Given the description of an element on the screen output the (x, y) to click on. 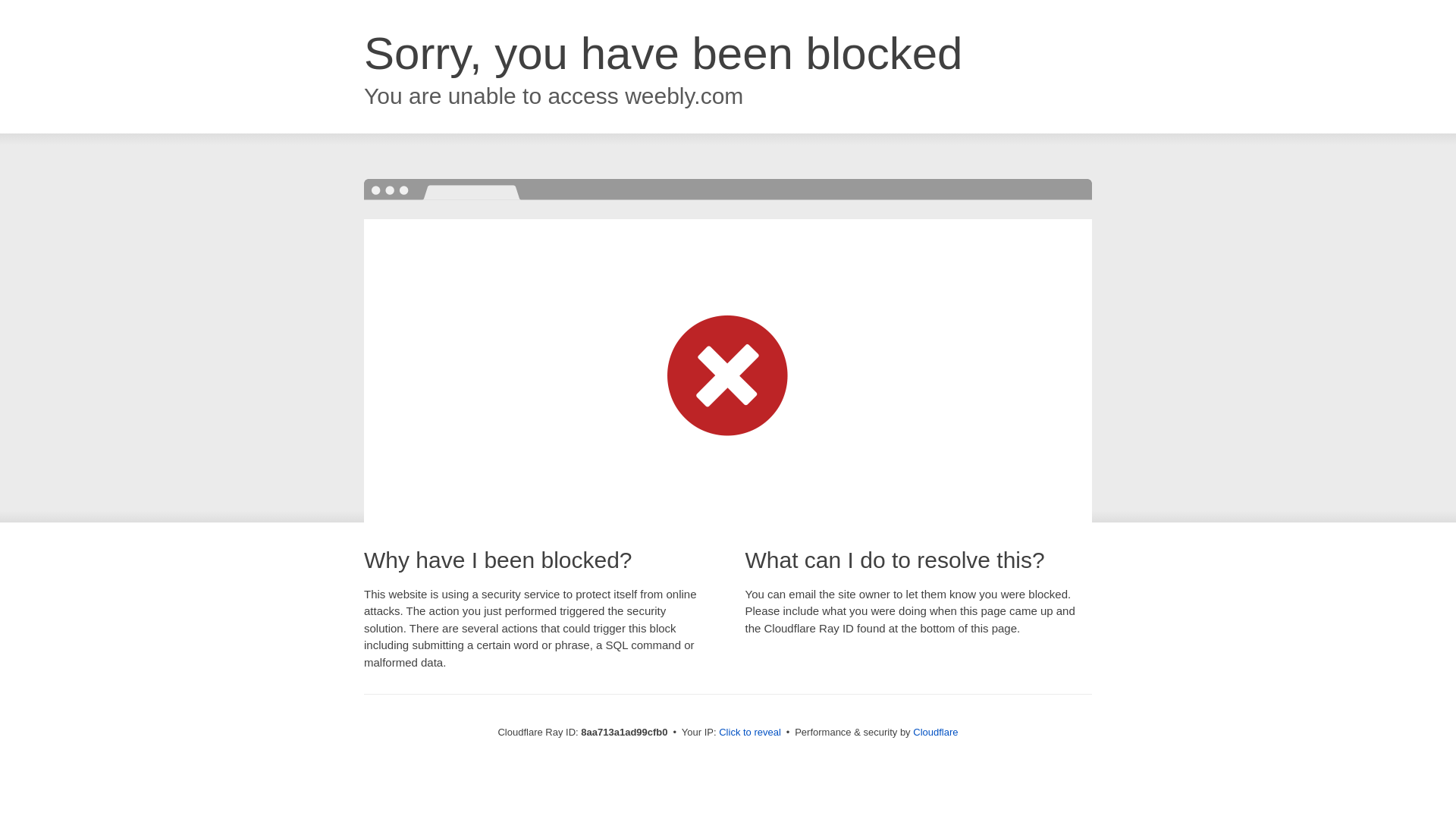
Cloudflare (935, 731)
Click to reveal (749, 732)
